Given the description of an element on the screen output the (x, y) to click on. 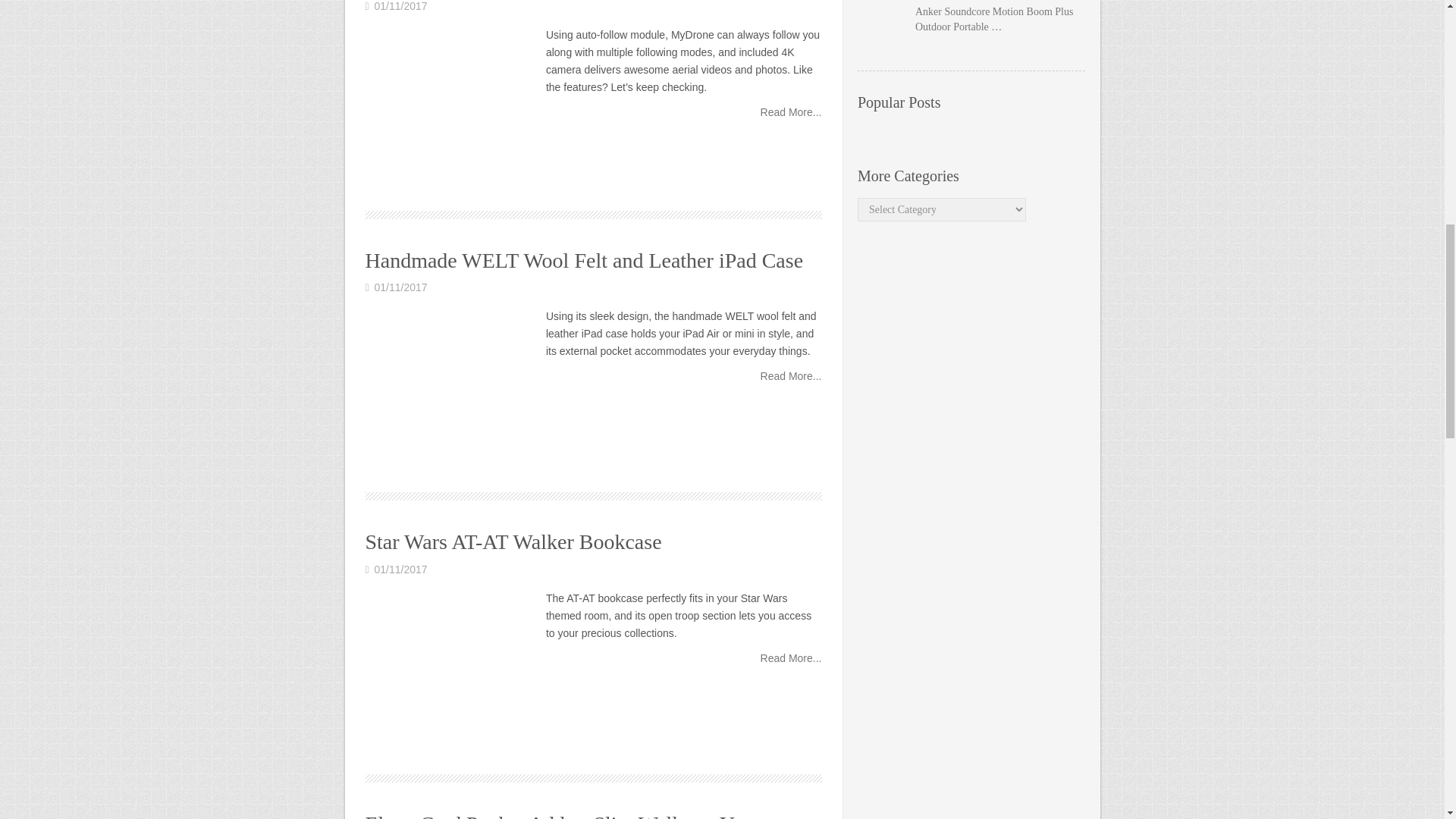
Handmade WELT Wool Felt and Leather iPad Case (584, 259)
MyDrone Auto-Follow Drone with 4K Camera (791, 111)
MyDrone Auto-Follow Drone with 4K Camera (450, 111)
Star Wars AT-AT Walker Bookcase (513, 541)
Star Wars AT-AT Walker Bookcase (791, 657)
Handmade WELT Wool Felt and Leather iPad Case (584, 259)
Read More... (791, 111)
Star Wars AT-AT Walker Bookcase (450, 674)
Elago Card Pocket Adds a Slim Wallet to Your Smartphone (563, 815)
Elago Card Pocket Adds a Slim Wallet to Your Smartphone (563, 815)
Read More... (791, 376)
Star Wars AT-AT Walker Bookcase (513, 541)
Read More... (791, 657)
Handmade WELT Wool Felt and Leather iPad Case (450, 392)
Handmade WELT Wool Felt and Leather iPad Case (791, 376)
